Given the description of an element on the screen output the (x, y) to click on. 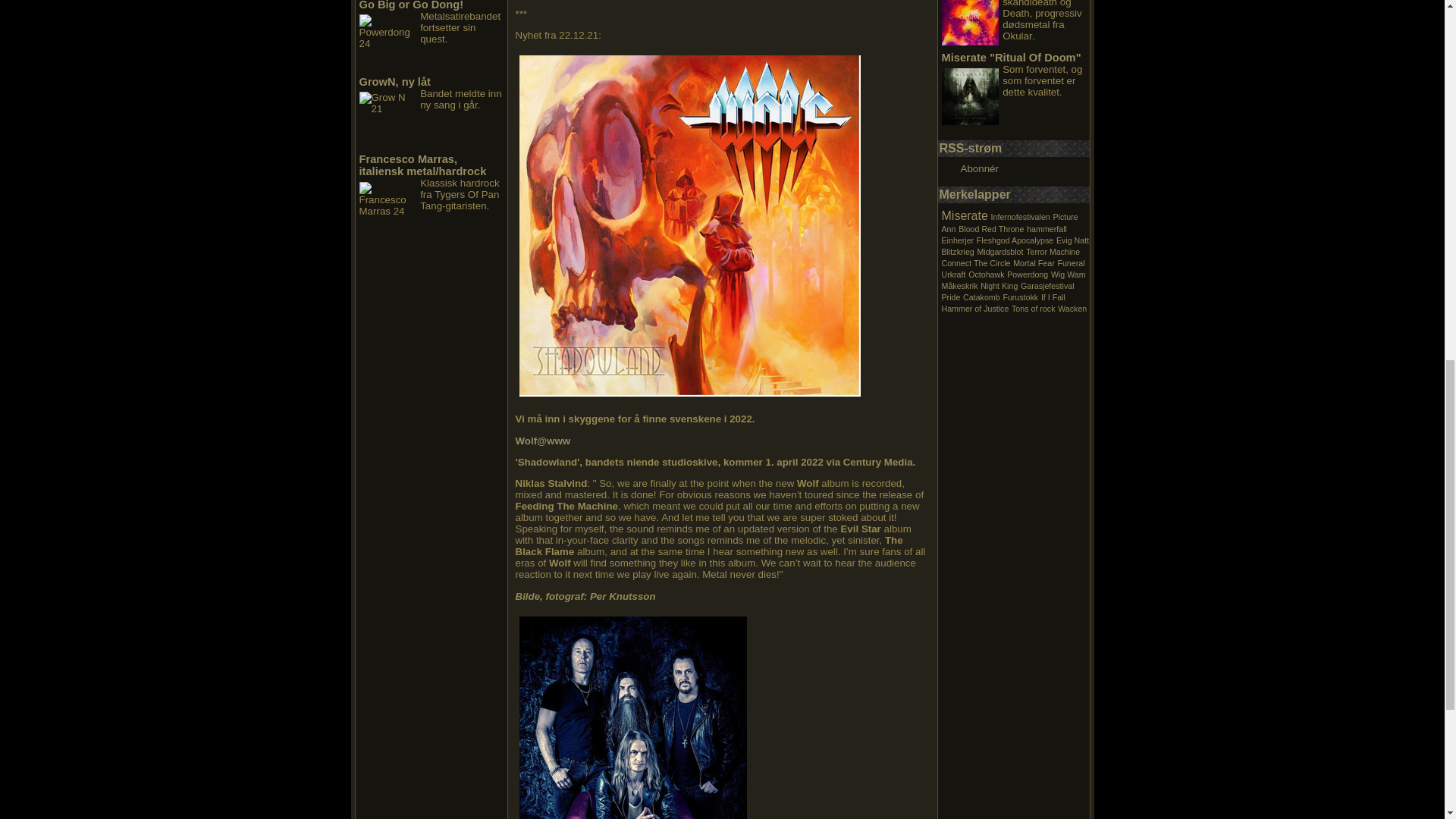
Go Big or Go Dong! (411, 5)
Miserate (965, 215)
Miserate "Ritual Of Doom" (1011, 57)
Wolf 22 (689, 225)
Francesco Marras 24 (387, 210)
Wolf 21 Fotograf Per Knutsson (632, 717)
hammerfall (1046, 228)
Grow N 21 (387, 119)
Powerdong 24 (387, 42)
Infernofestivalen (1020, 216)
Picture Ann (1010, 222)
Blood Red Throne (990, 228)
